Given the description of an element on the screen output the (x, y) to click on. 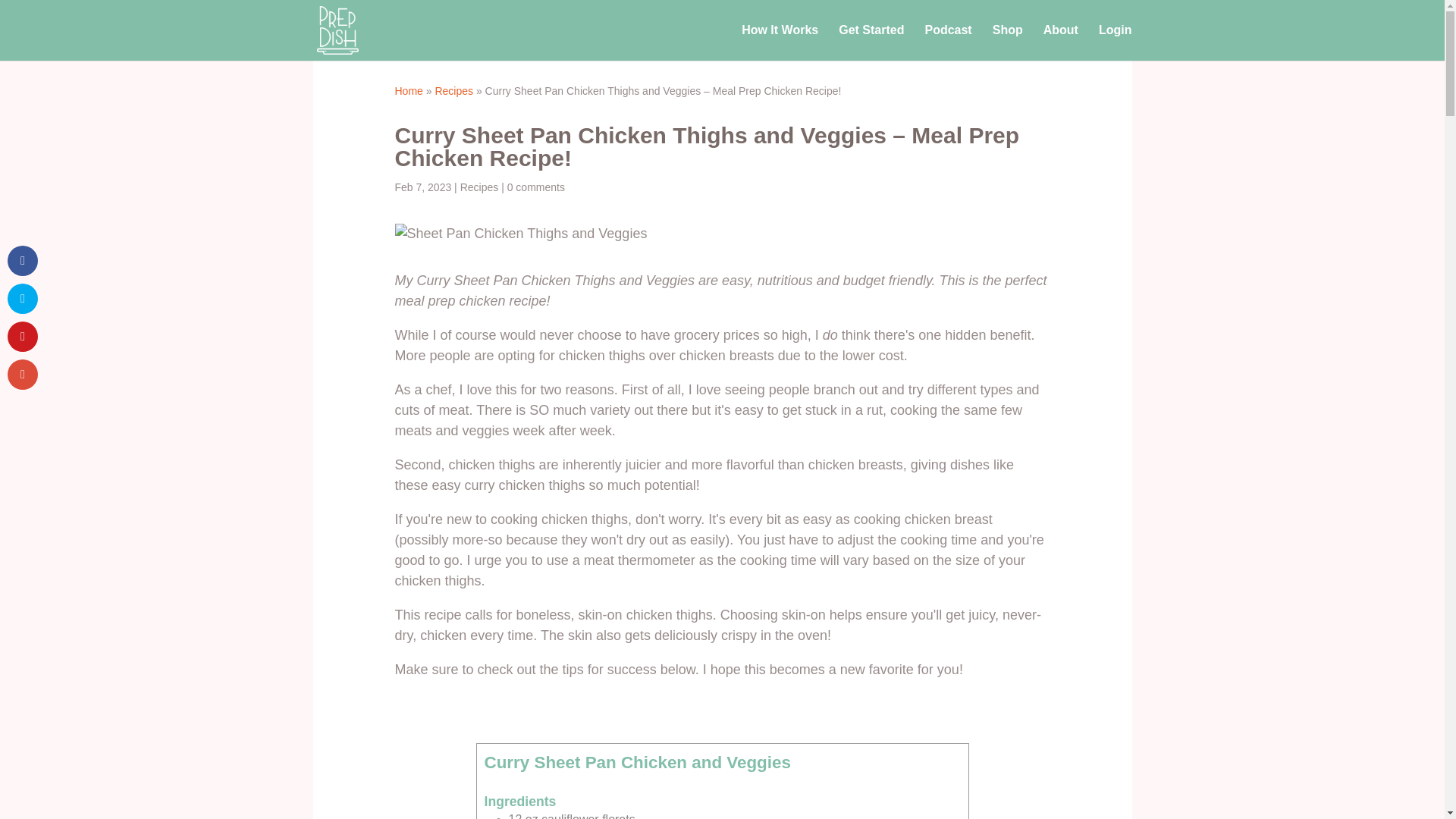
Get Started (871, 42)
Login (1115, 42)
About (1060, 42)
0 comments (535, 186)
Recipes (453, 91)
Podcast (947, 42)
Recipes (479, 186)
How It Works (779, 42)
Home (408, 91)
